Given the description of an element on the screen output the (x, y) to click on. 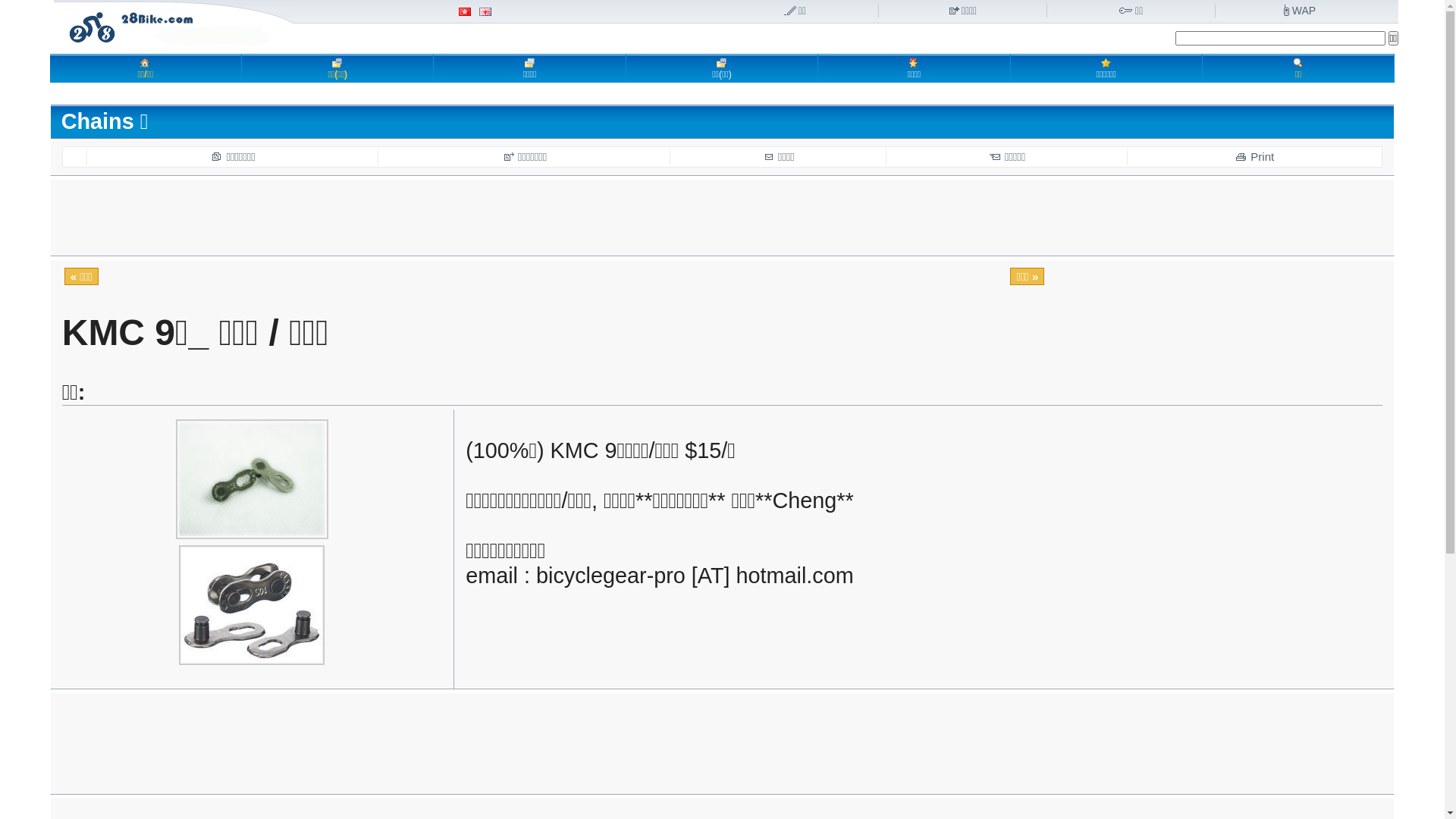
English Element type: hover (485, 11)
Advertisement Element type: hover (721, 784)
Advertisement Element type: hover (721, 217)
Print Element type: text (1254, 156)
WAP Element type: text (1299, 10)
Advertisement Element type: hover (721, 93)
28Bike Classifieds Element type: hover (173, 25)
Advertisement Element type: hover (721, 730)
